Given the description of an element on the screen output the (x, y) to click on. 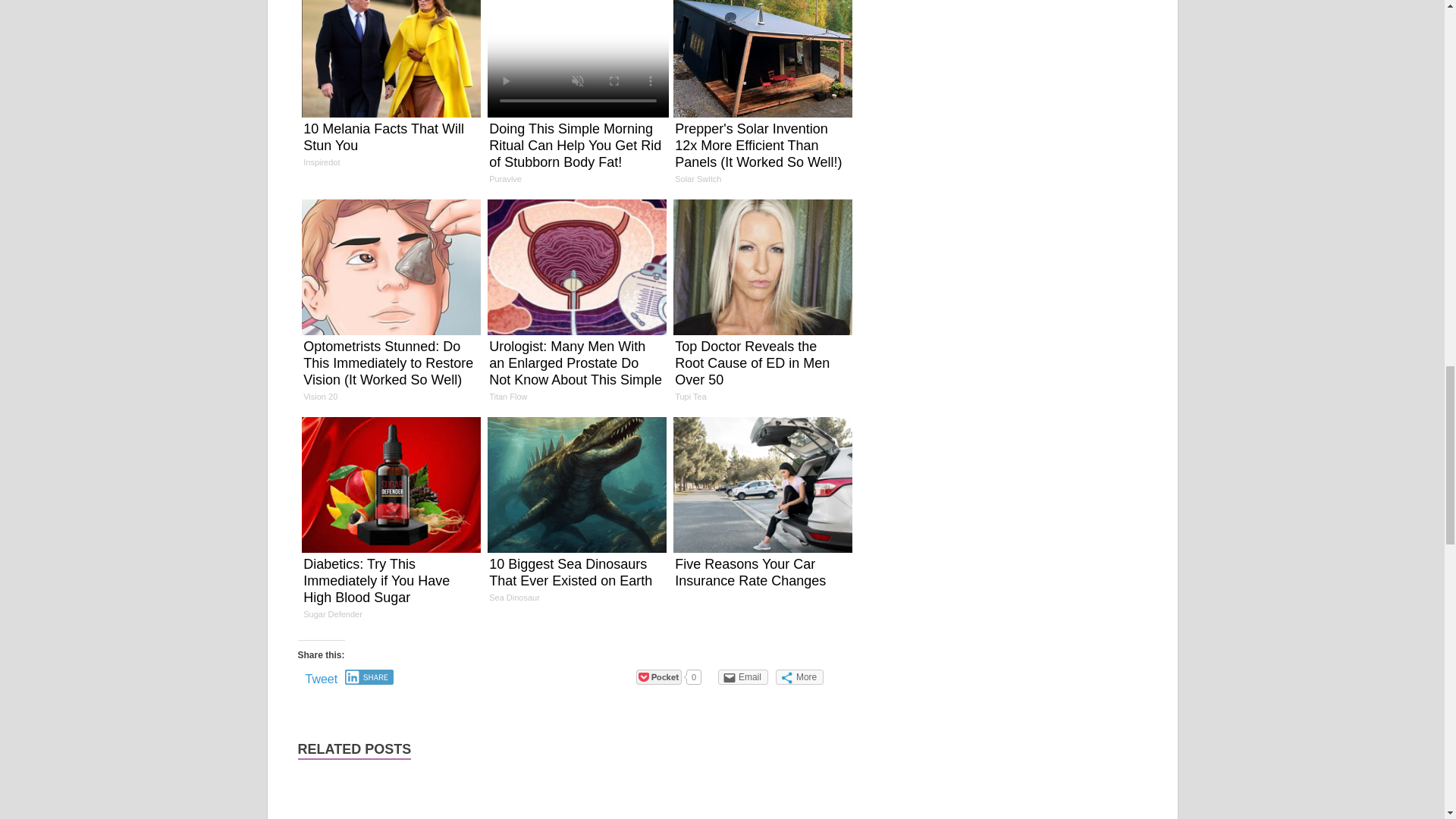
Click to email a link to a friend (742, 676)
Five Reasons Your Car Insurance Rate Changes (761, 508)
10 Biggest Sea Dinosaurs That Ever Existed on Earth (575, 514)
10 Melania Facts That Will Stun You (390, 89)
